Given the description of an element on the screen output the (x, y) to click on. 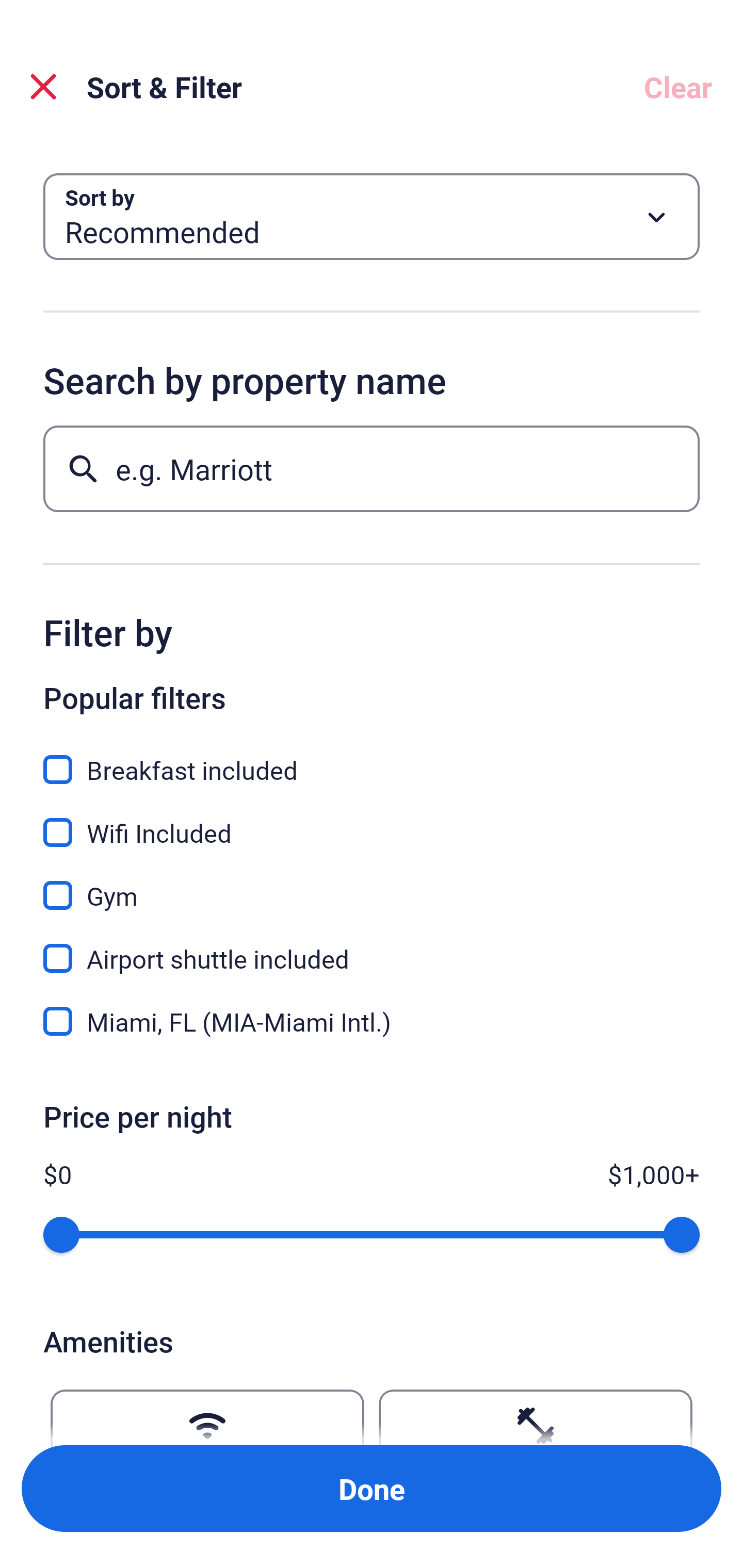
Close Sort and Filter (43, 86)
Clear (677, 86)
Sort by Button Recommended (371, 217)
e.g. Marriott Button (371, 468)
Breakfast included, Breakfast included (371, 757)
Wifi Included, Wifi Included (371, 821)
Gym, Gym (371, 883)
Airport shuttle included, Airport shuttle included (371, 946)
Apply and close Sort and Filter Done (371, 1488)
